Given the description of an element on the screen output the (x, y) to click on. 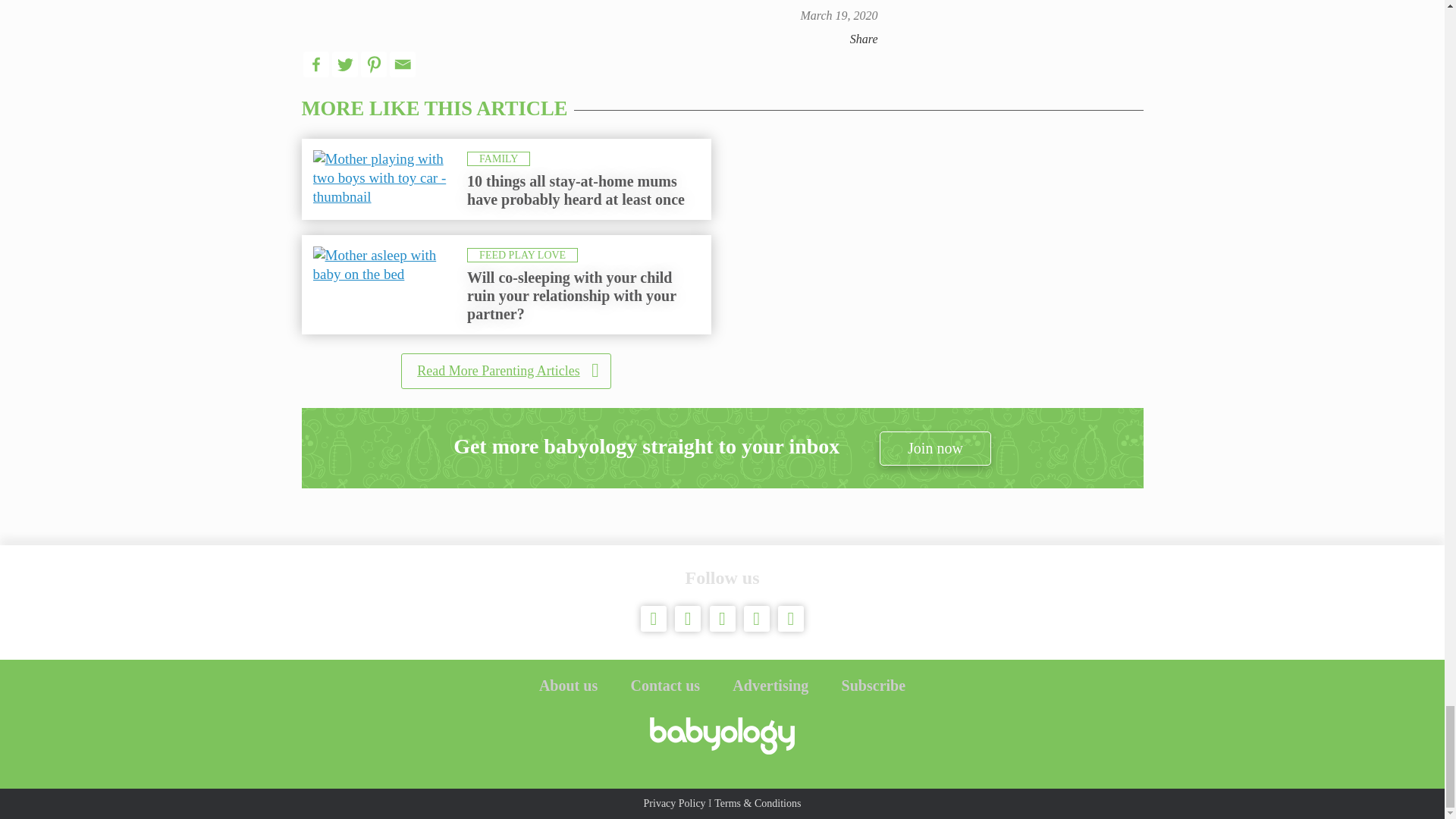
2:23 pm (838, 15)
Facebook (315, 63)
Twitter (344, 63)
Pinterest (374, 63)
